Given the description of an element on the screen output the (x, y) to click on. 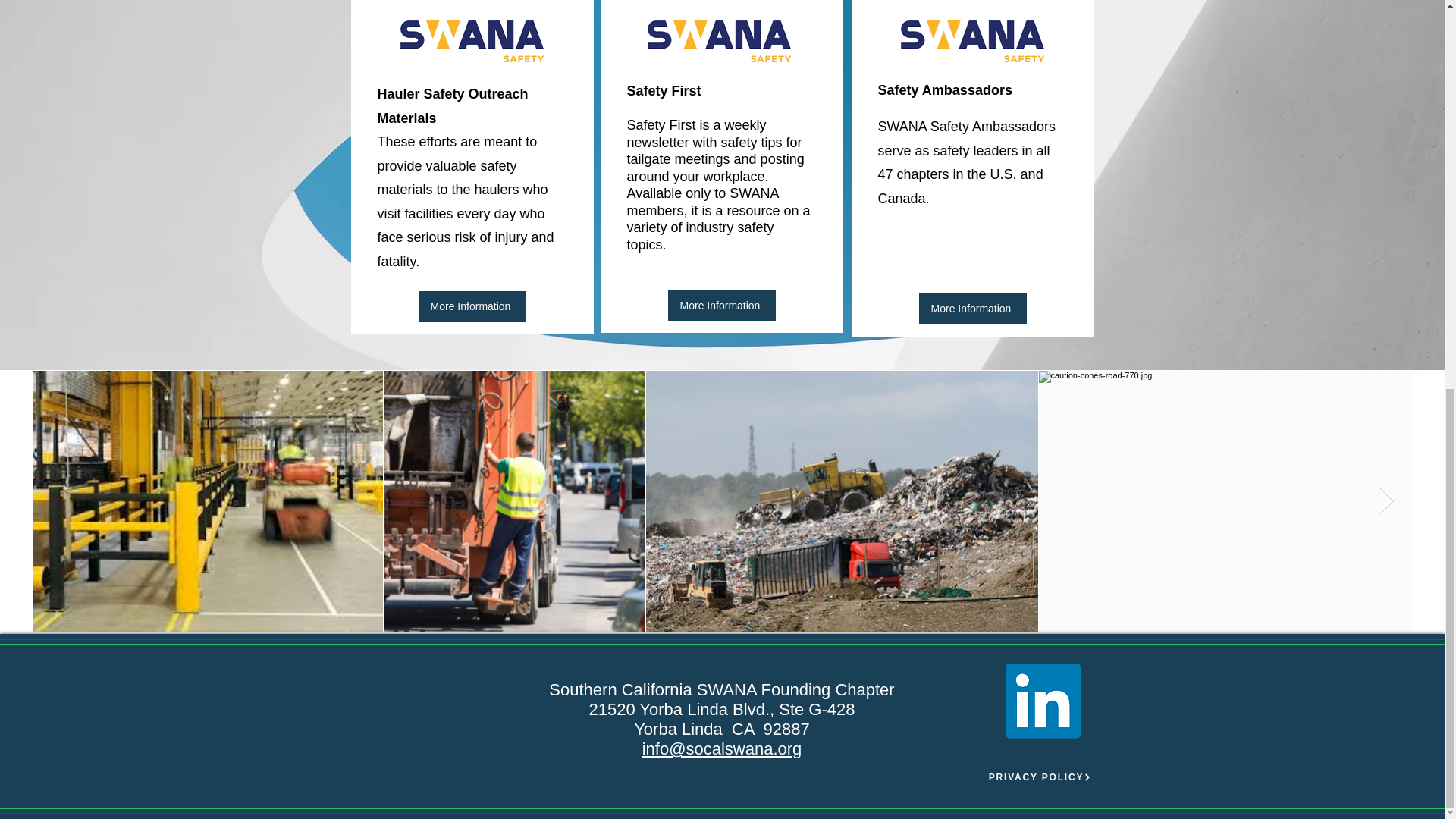
Hauler Safety Outreach Materials (452, 106)
More Information (720, 304)
Safety Ambassadors (944, 89)
More Information (472, 306)
More Information (972, 308)
PRIVACY POLICY (1039, 777)
